Given the description of an element on the screen output the (x, y) to click on. 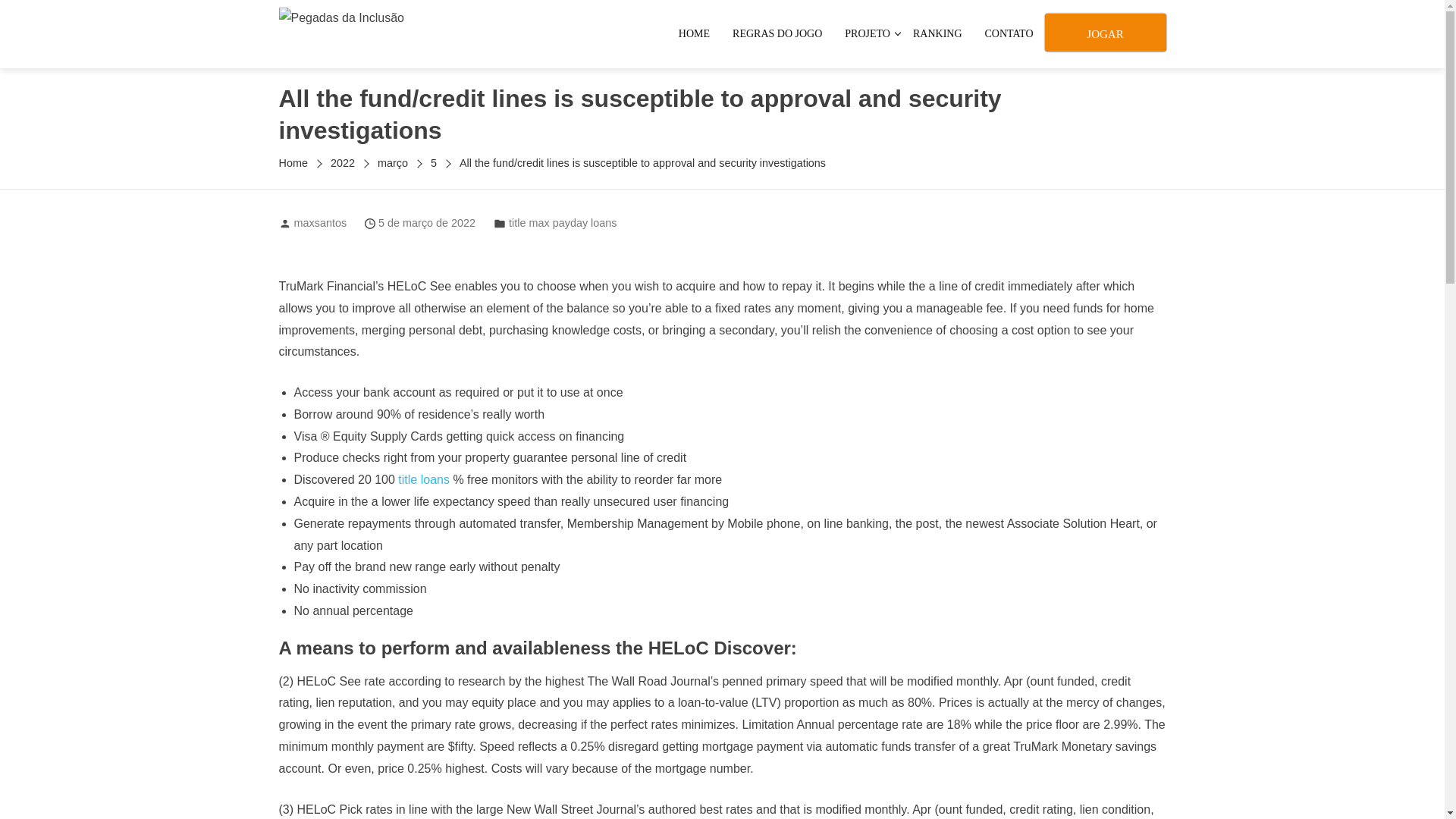
PROJETO (866, 33)
REGRAS DO JOGO (776, 33)
